Given the description of an element on the screen output the (x, y) to click on. 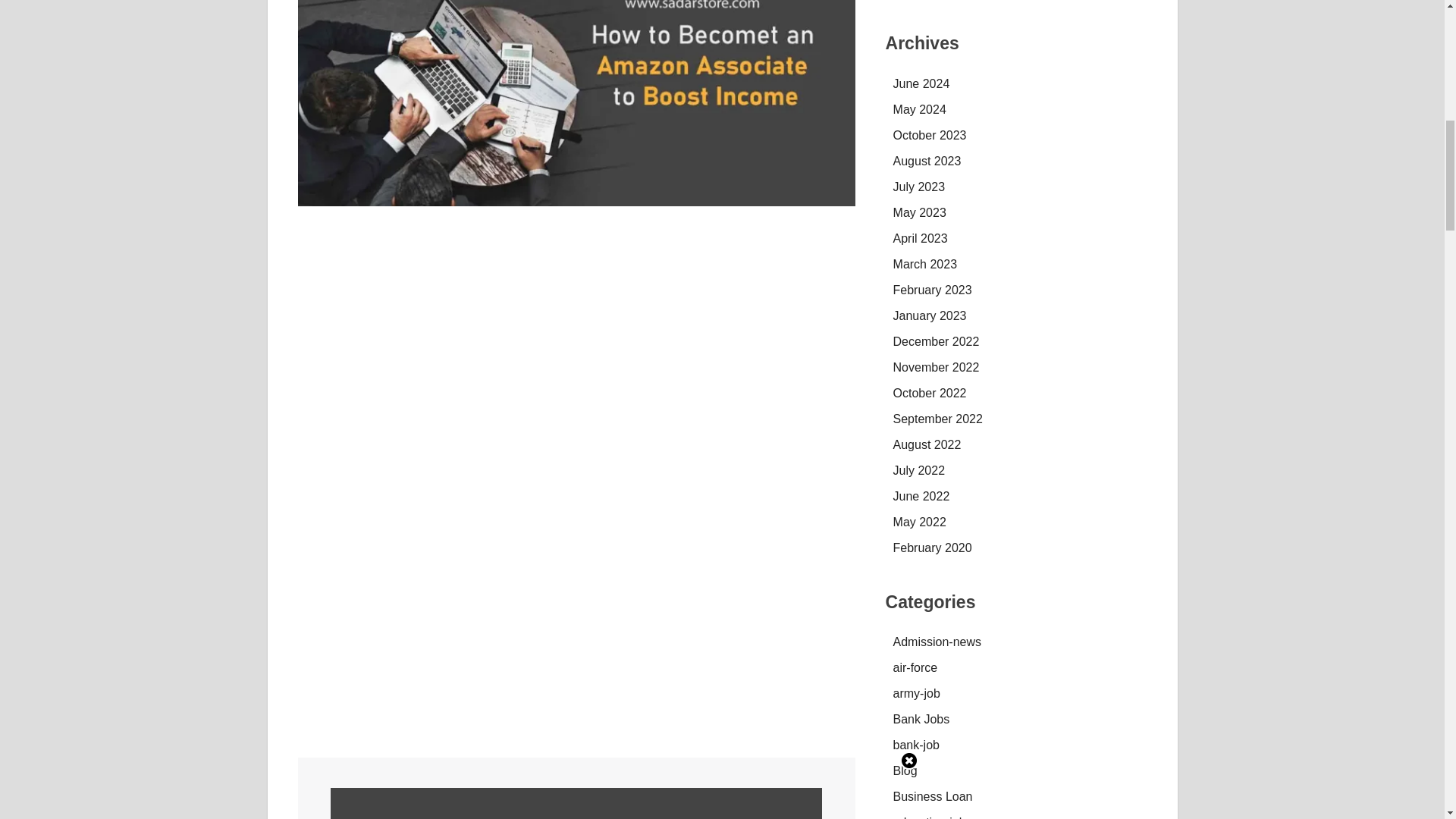
August 2023 (926, 160)
May 2024 (919, 109)
June 2024 (921, 83)
October 2023 (929, 134)
May 2023 (919, 212)
July 2023 (918, 186)
